Given the description of an element on the screen output the (x, y) to click on. 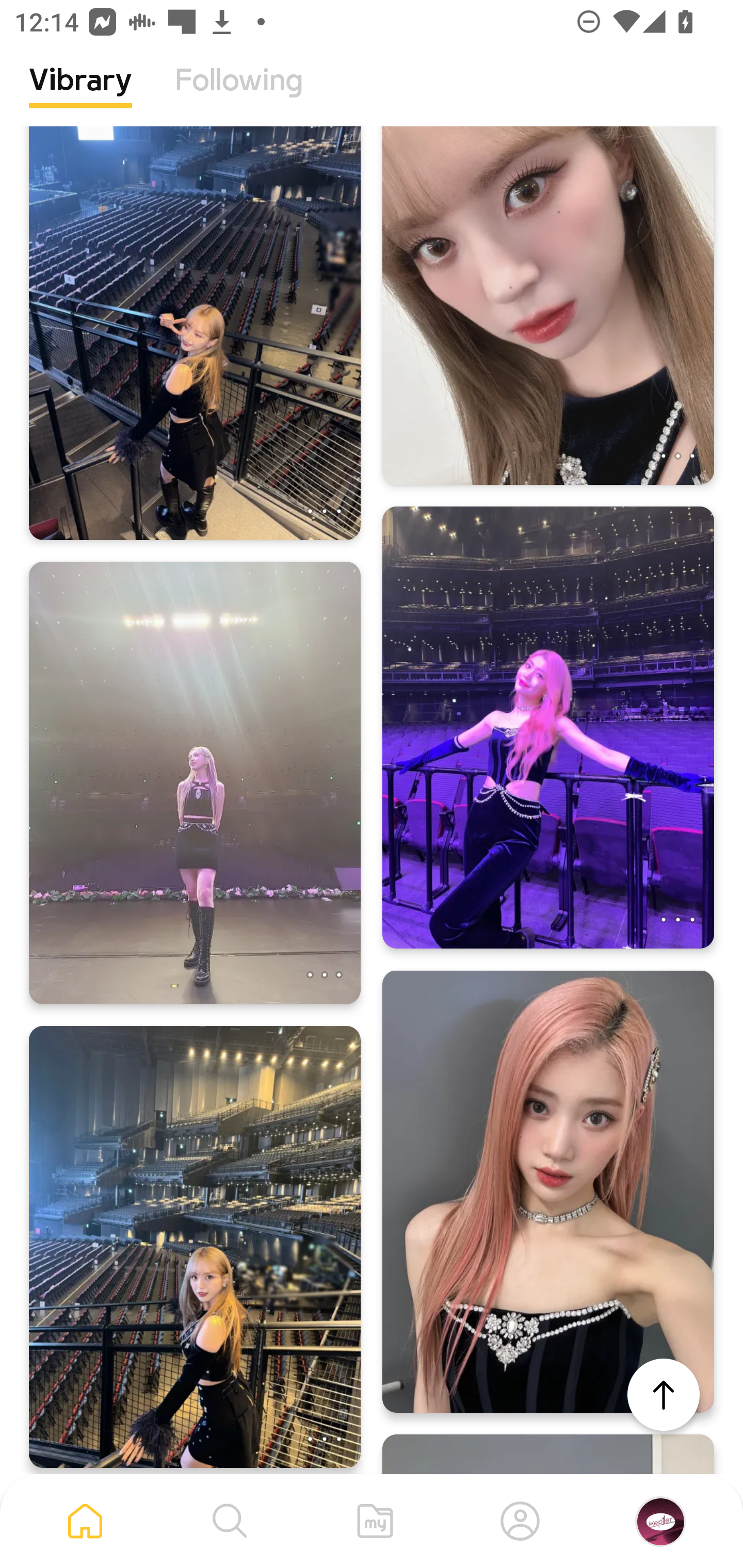
Vibrary (80, 95)
Following (239, 95)
